Given the description of an element on the screen output the (x, y) to click on. 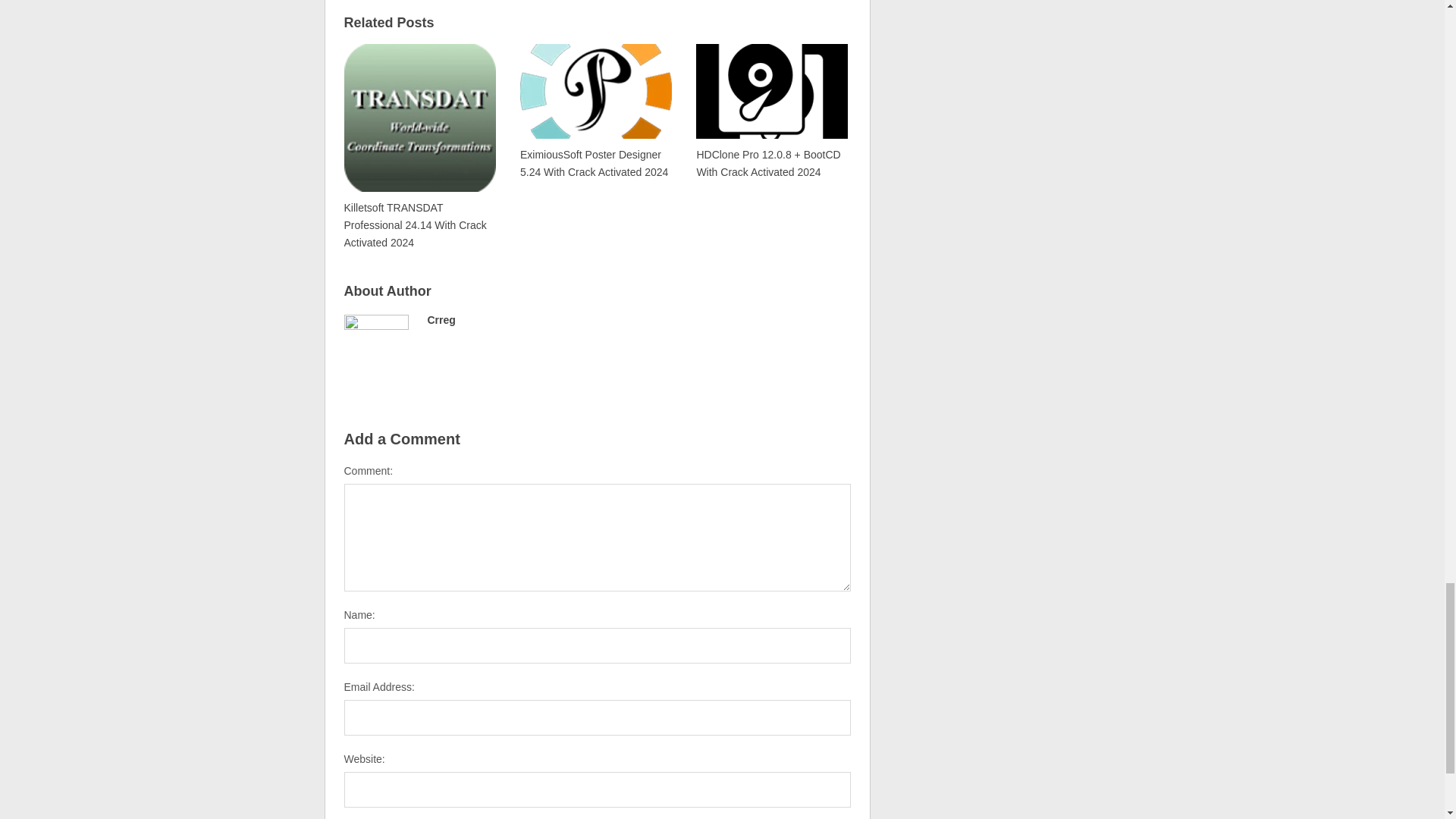
EximiousSoft Poster Designer 5.24 With Crack Activated 2024 (595, 110)
